Given the description of an element on the screen output the (x, y) to click on. 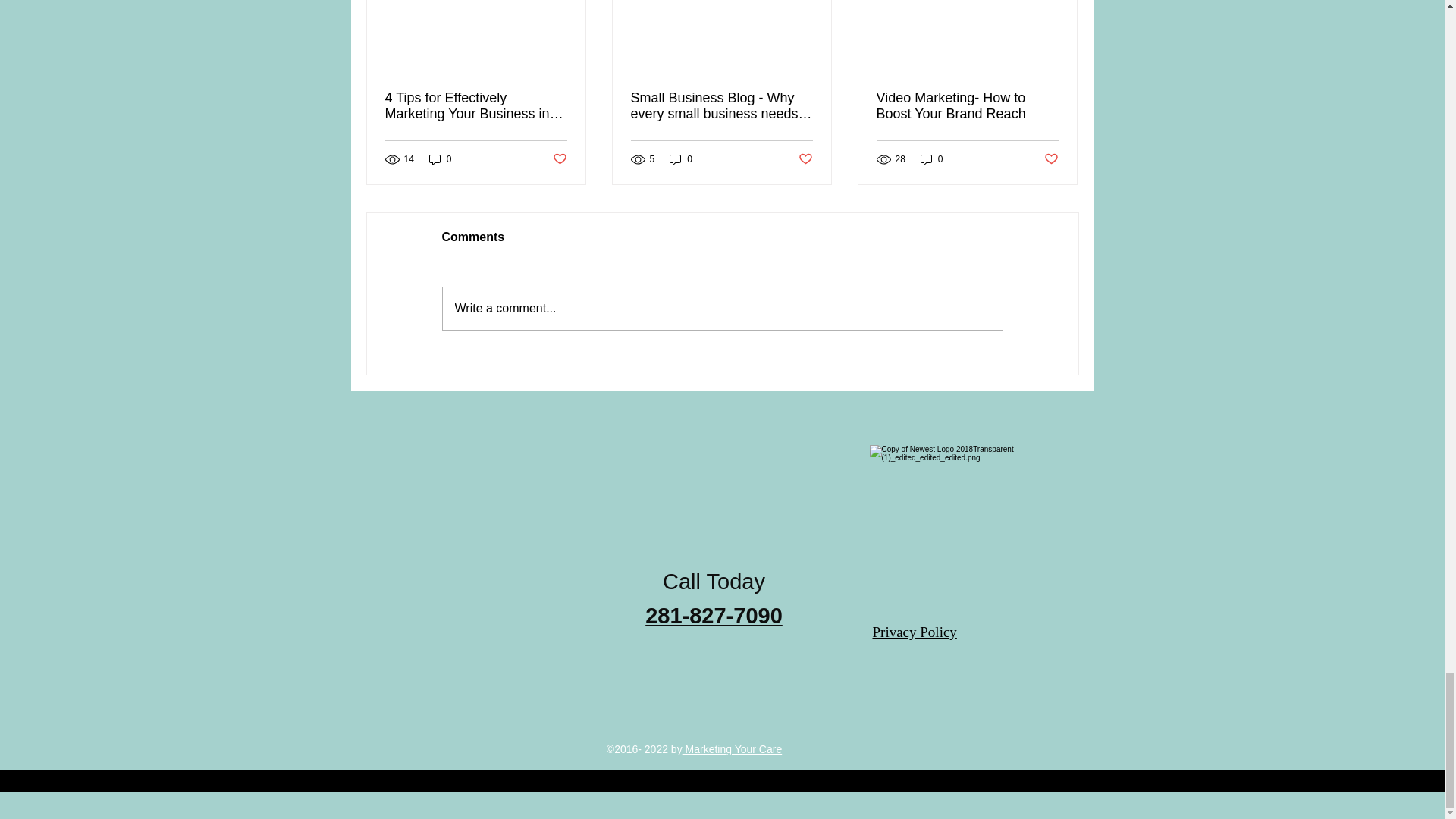
0 (440, 159)
